Given the description of an element on the screen output the (x, y) to click on. 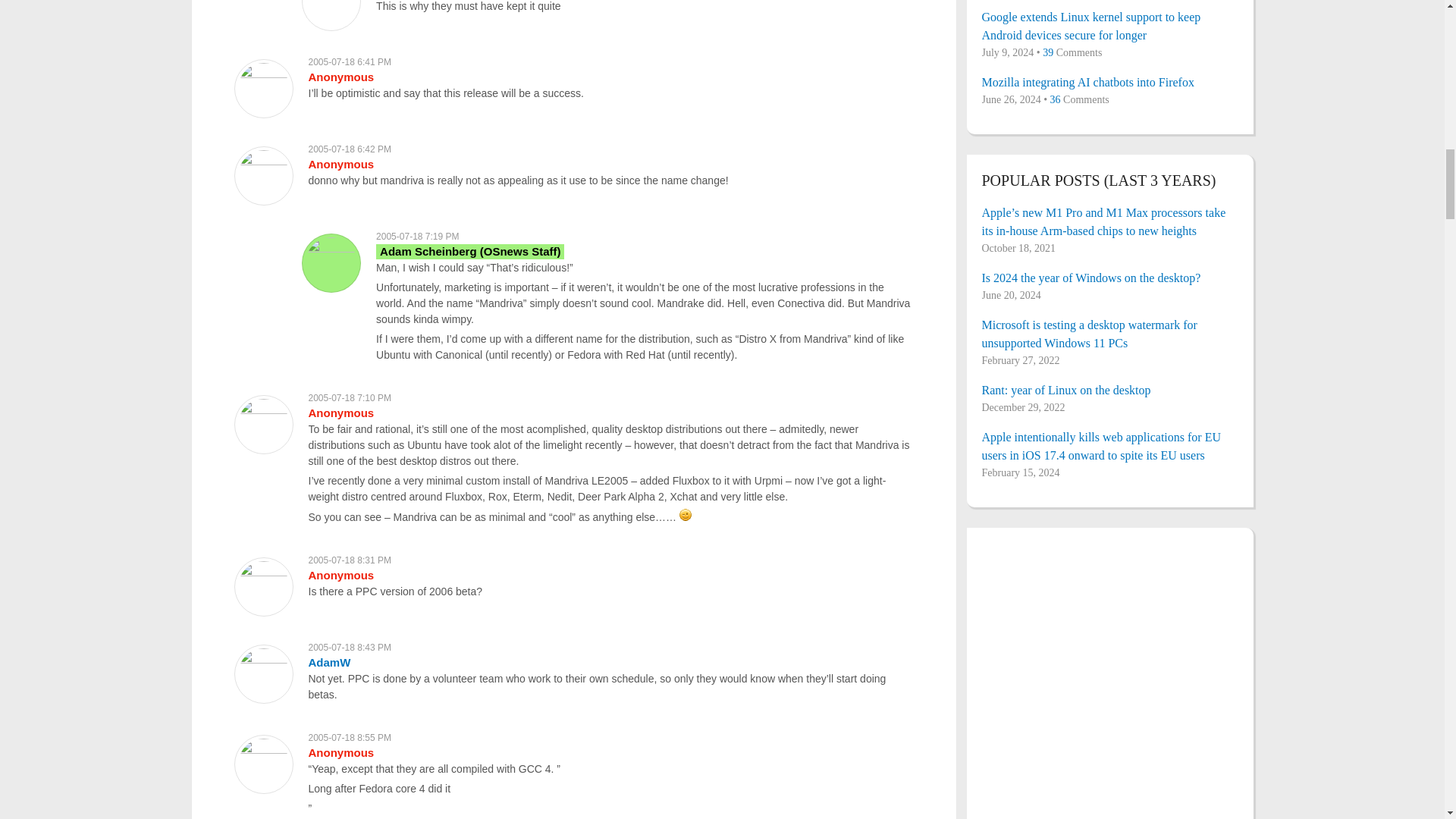
Anonymous (340, 76)
Anonymous (340, 164)
Anonymous (340, 574)
Anonymous (340, 412)
AdamW (328, 662)
Adam Scheinberg (469, 251)
